Given the description of an element on the screen output the (x, y) to click on. 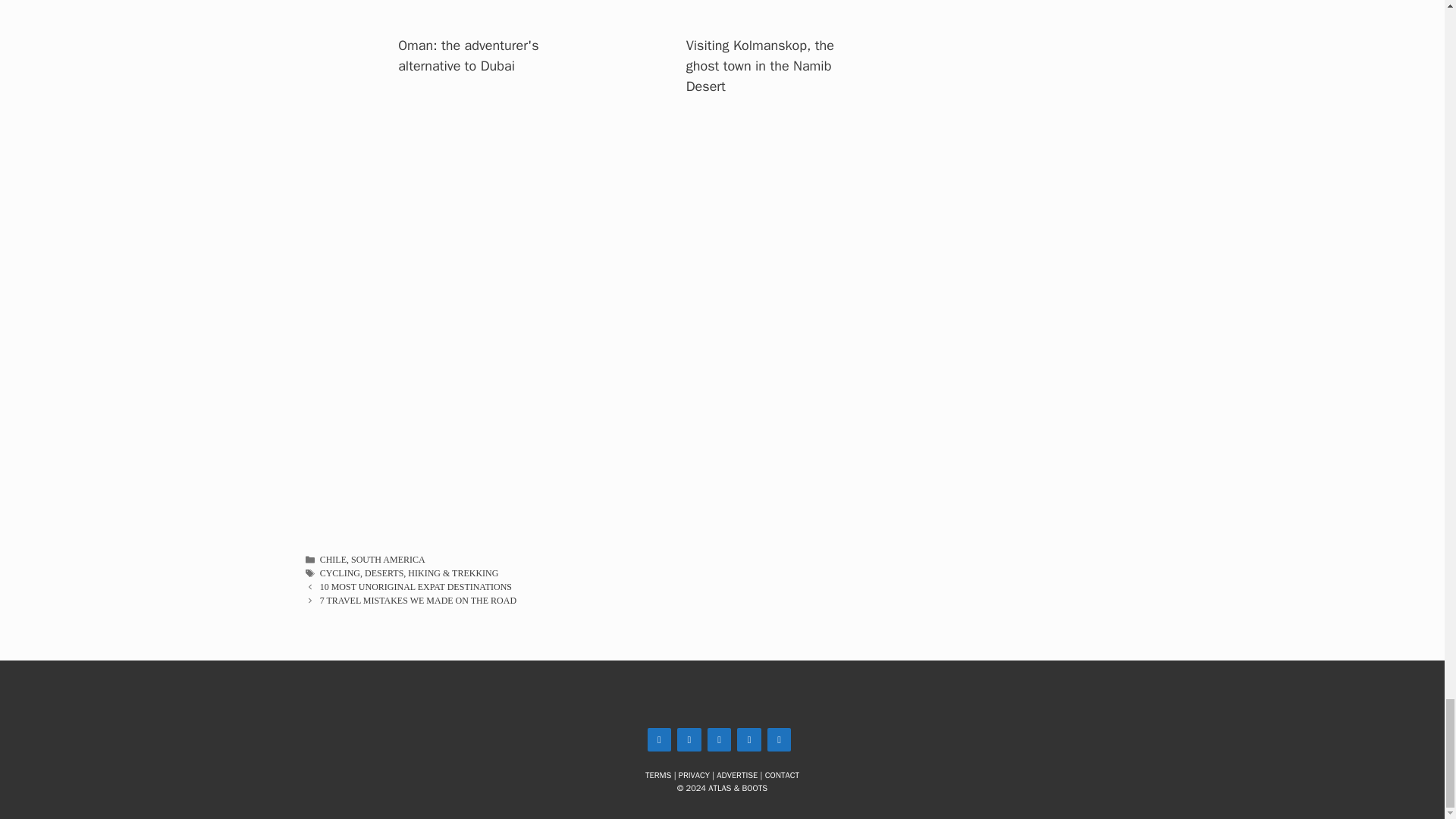
Instagram (659, 740)
Facebook (719, 740)
YouTube (748, 740)
RSS (779, 740)
Twitter (689, 740)
